Given the description of an element on the screen output the (x, y) to click on. 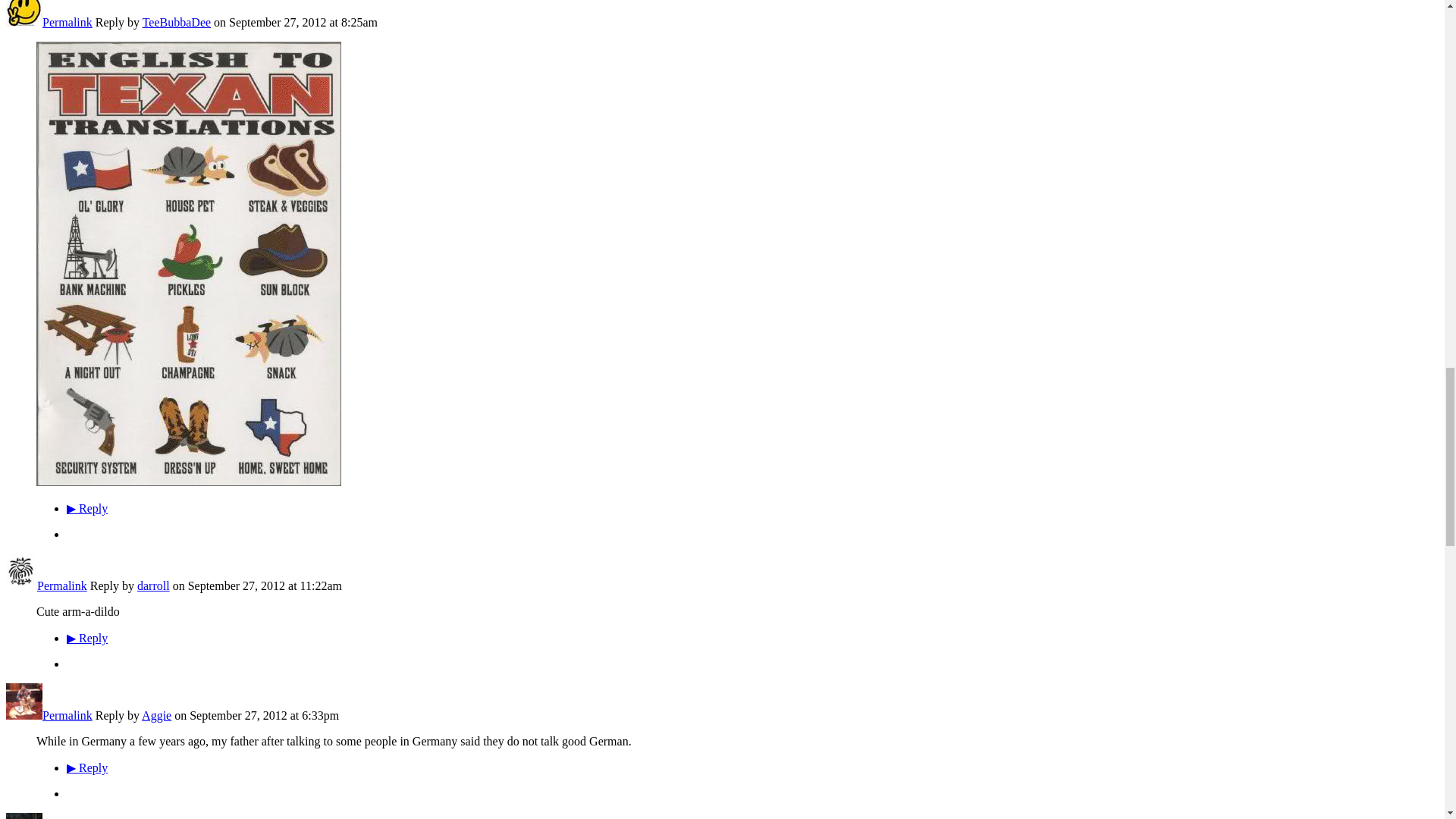
TeeBubbaDee (23, 21)
Permalink to this Reply (67, 715)
darroll (21, 585)
Permalink to this Reply (67, 21)
Aggie (23, 715)
Permalink to this Reply (62, 585)
